Given the description of an element on the screen output the (x, y) to click on. 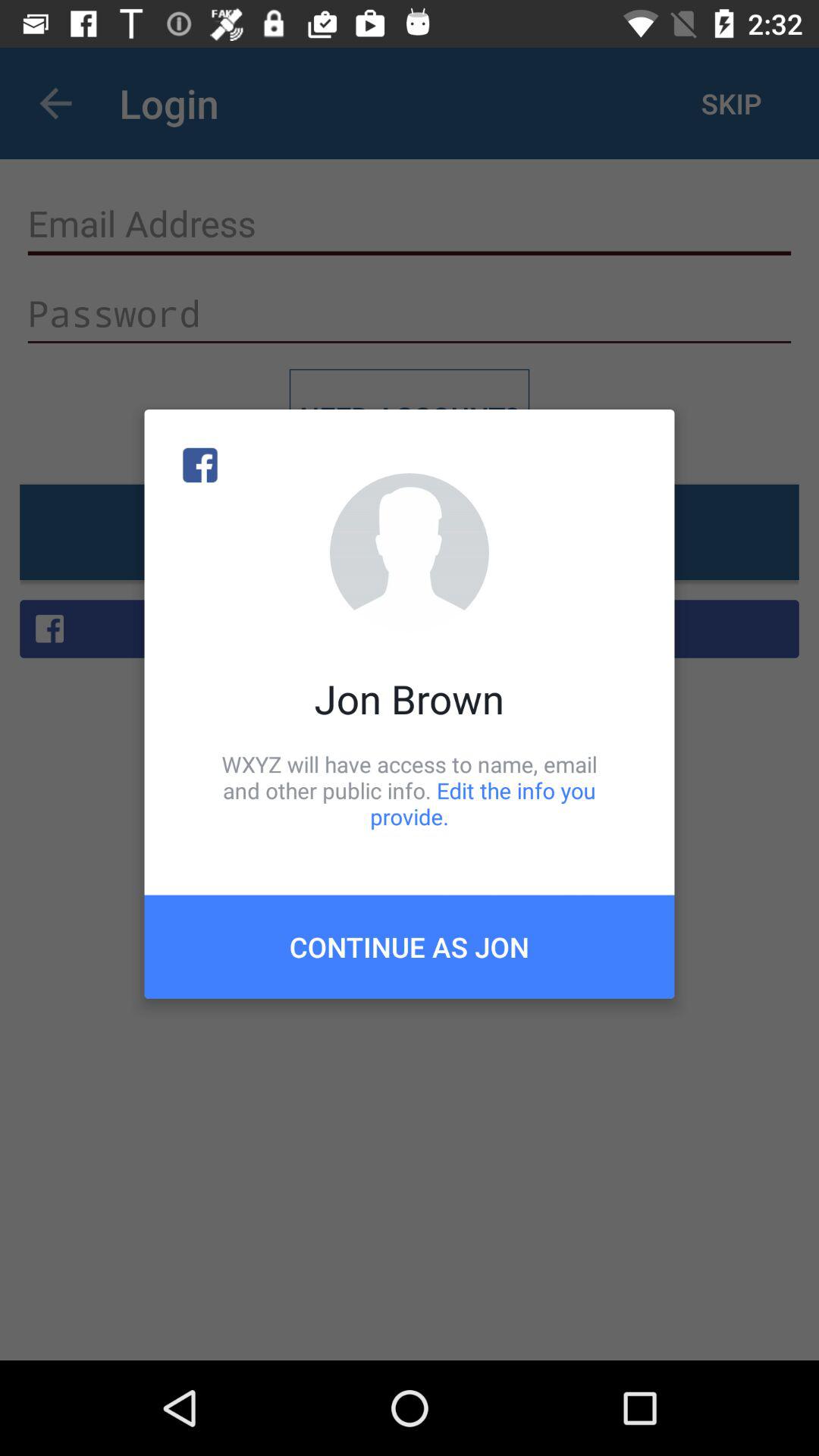
jump until the continue as jon item (409, 946)
